Given the description of an element on the screen output the (x, y) to click on. 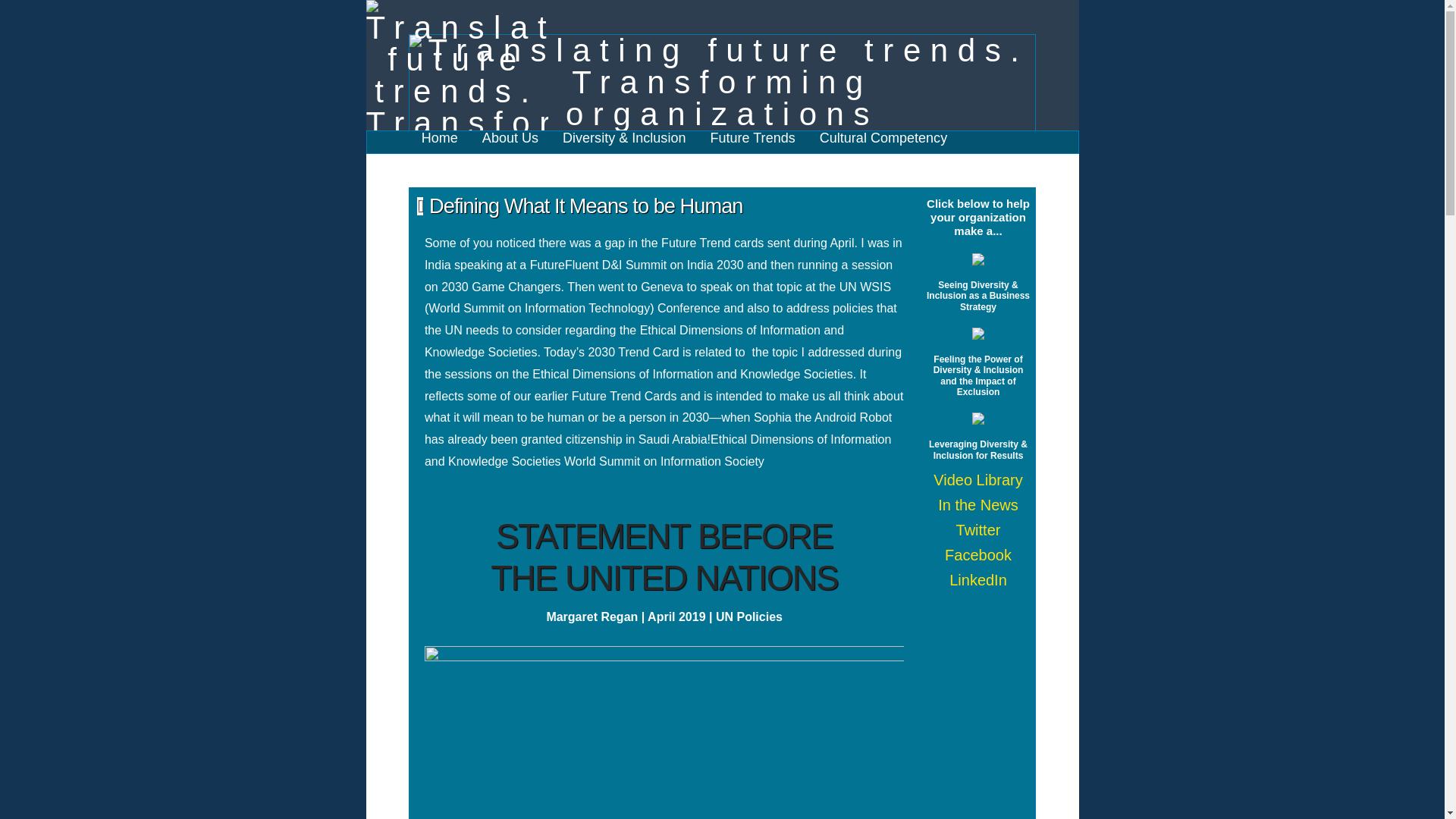
Translating future trends. Transforming organizations (722, 82)
Cultural Competency (883, 142)
Contact Us (454, 164)
Translating future trends. Transforming organizations (456, 75)
Home (439, 142)
Future Trends (751, 142)
About Us (510, 142)
